Given the description of an element on the screen output the (x, y) to click on. 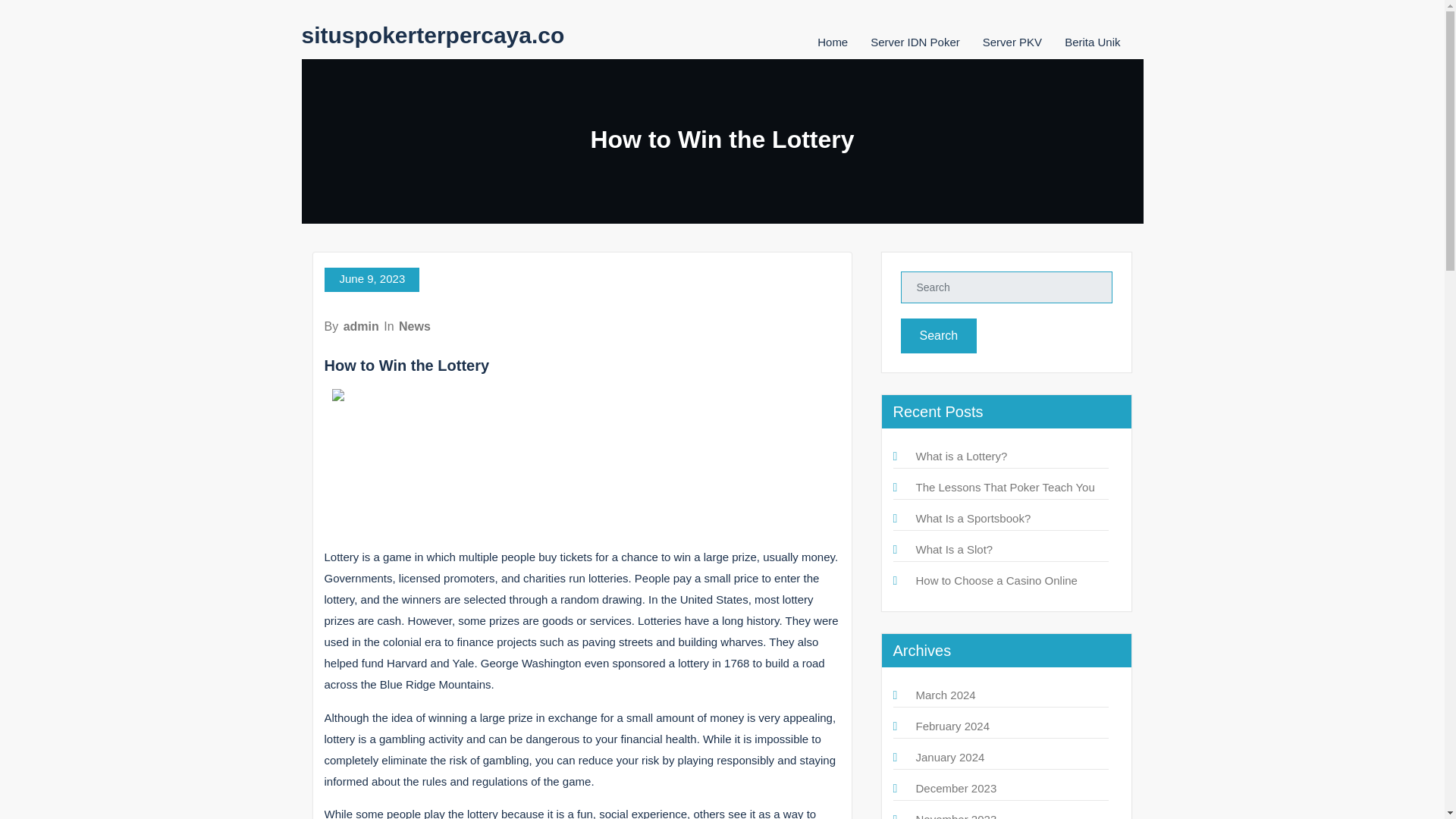
How to Choose a Casino Online (996, 580)
What Is a Sportsbook? (972, 517)
What is a Lottery? (961, 455)
What Is a Slot? (953, 549)
Server IDN Poker (914, 41)
June 9, 2023 (372, 279)
November 2023 (956, 816)
The Lessons That Poker Teach You (1004, 486)
January 2024 (950, 757)
News (414, 326)
situspokerterpercaya.co (432, 34)
Berita Unik (1091, 41)
December 2023 (956, 788)
Search (938, 335)
admin (361, 326)
